Given the description of an element on the screen output the (x, y) to click on. 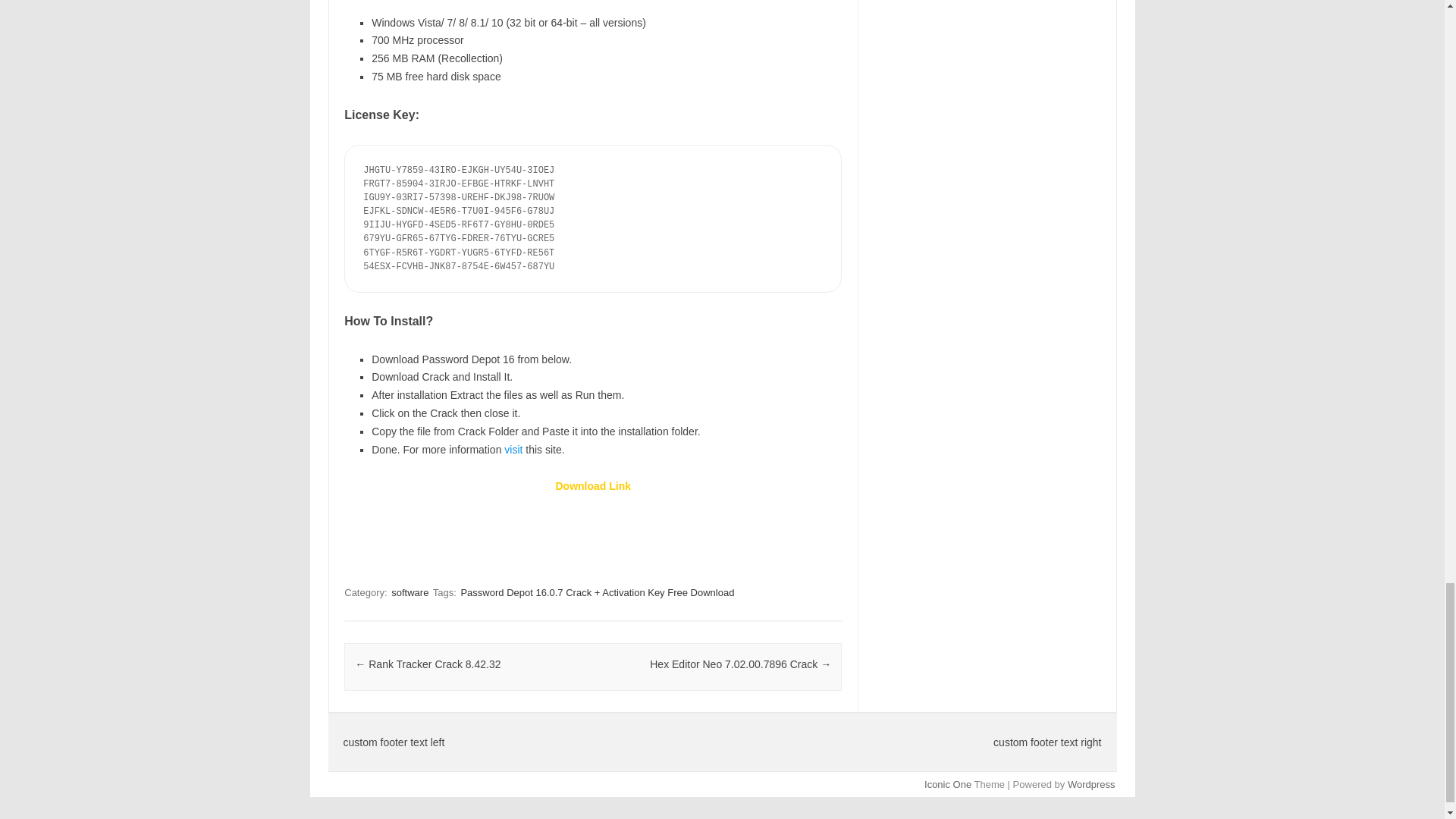
Download Link (592, 485)
visit  (514, 449)
software (409, 592)
